Given the description of an element on the screen output the (x, y) to click on. 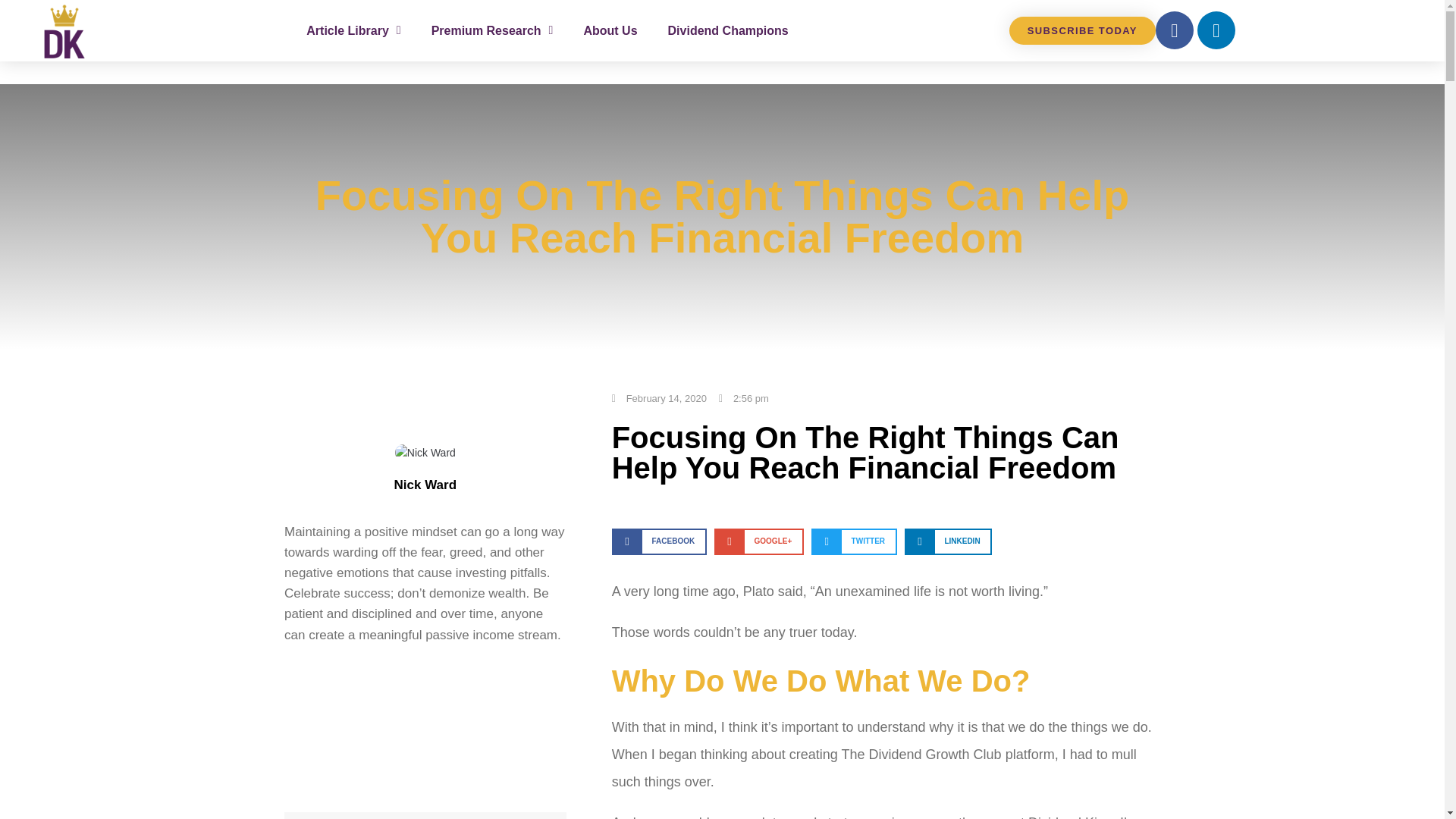
Dividend Champions (728, 30)
SUBSCRIBE TODAY (1082, 30)
February 14, 2020 (658, 399)
Premium Research (491, 30)
About Us (610, 30)
Article Library (352, 30)
